Given the description of an element on the screen output the (x, y) to click on. 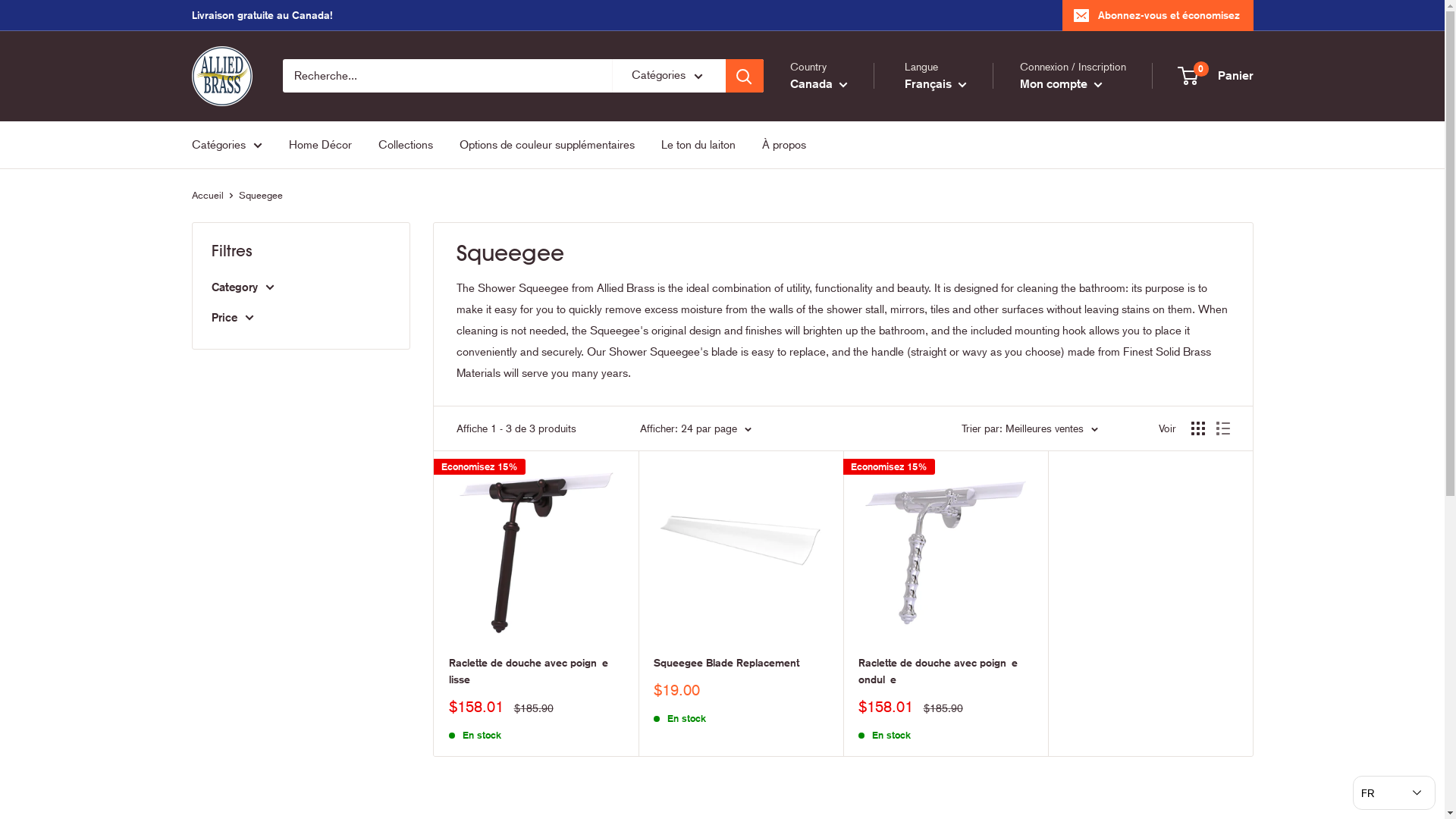
en Element type: text (950, 123)
0
Panier Element type: text (1215, 75)
Trier par: Meilleures ventes Element type: text (1029, 428)
Category Element type: text (299, 287)
Livraison gratuite au Canada! Element type: text (261, 15)
Afficher: 24 par page Element type: text (695, 428)
Squeegee Blade Replacement Element type: text (740, 663)
Collections Element type: text (404, 144)
Accueil Element type: text (206, 194)
fr Element type: text (950, 145)
Canada Element type: text (818, 83)
Mon compte Element type: text (1060, 83)
Le ton du laiton Element type: text (698, 144)
Price Element type: text (299, 317)
